Given the description of an element on the screen output the (x, y) to click on. 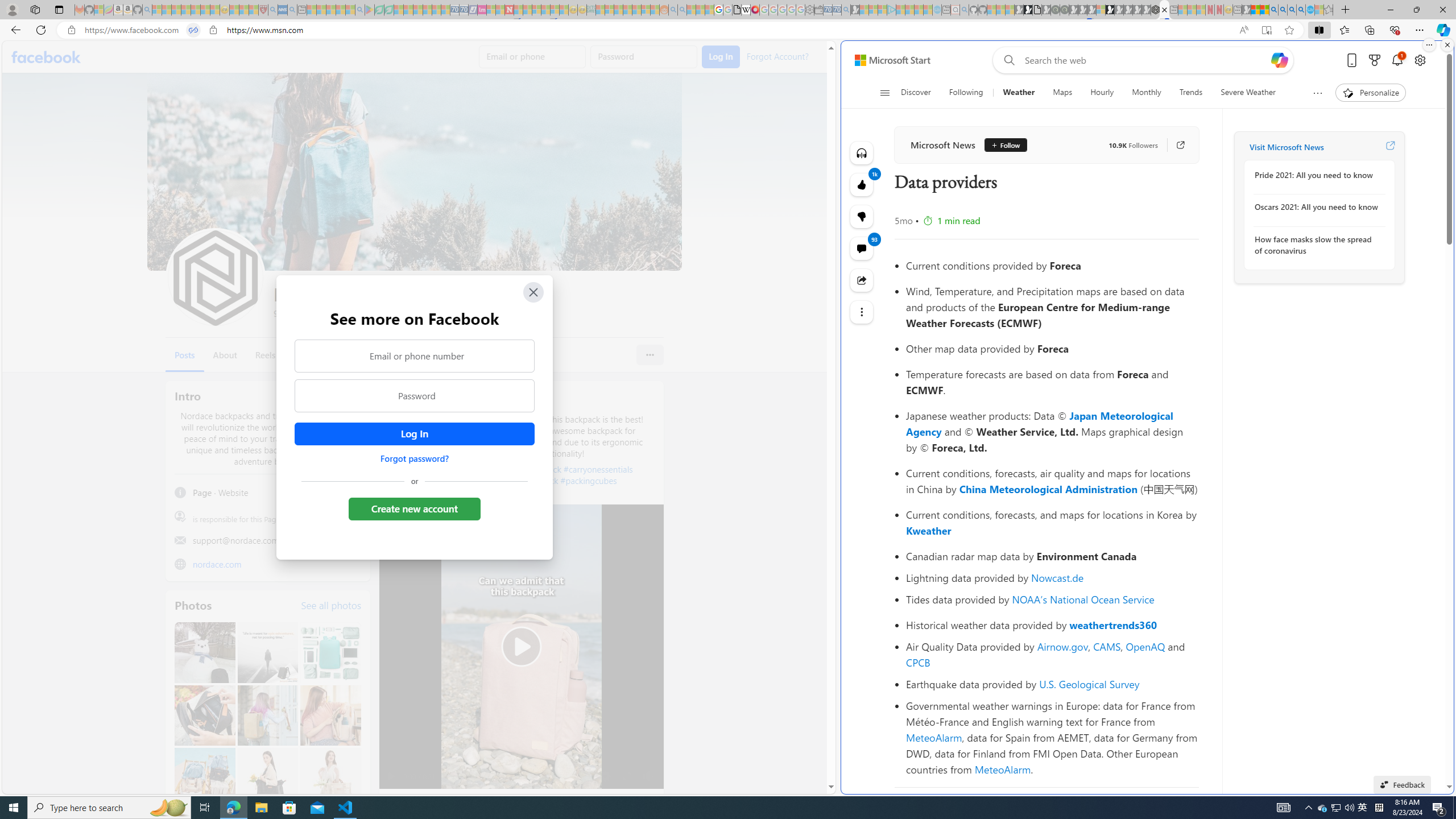
Restore (1416, 9)
Utah sues federal government - Search - Sleeping (681, 9)
google - Search - Sleeping (359, 9)
Hourly (1101, 92)
Severe Weather (1247, 92)
More options. (1428, 45)
Local - MSN - Sleeping (253, 9)
Airnow.gov (1062, 646)
Forgot password? (414, 458)
Robert H. Shmerling, MD - Harvard Health - Sleeping (263, 9)
